Given the description of an element on the screen output the (x, y) to click on. 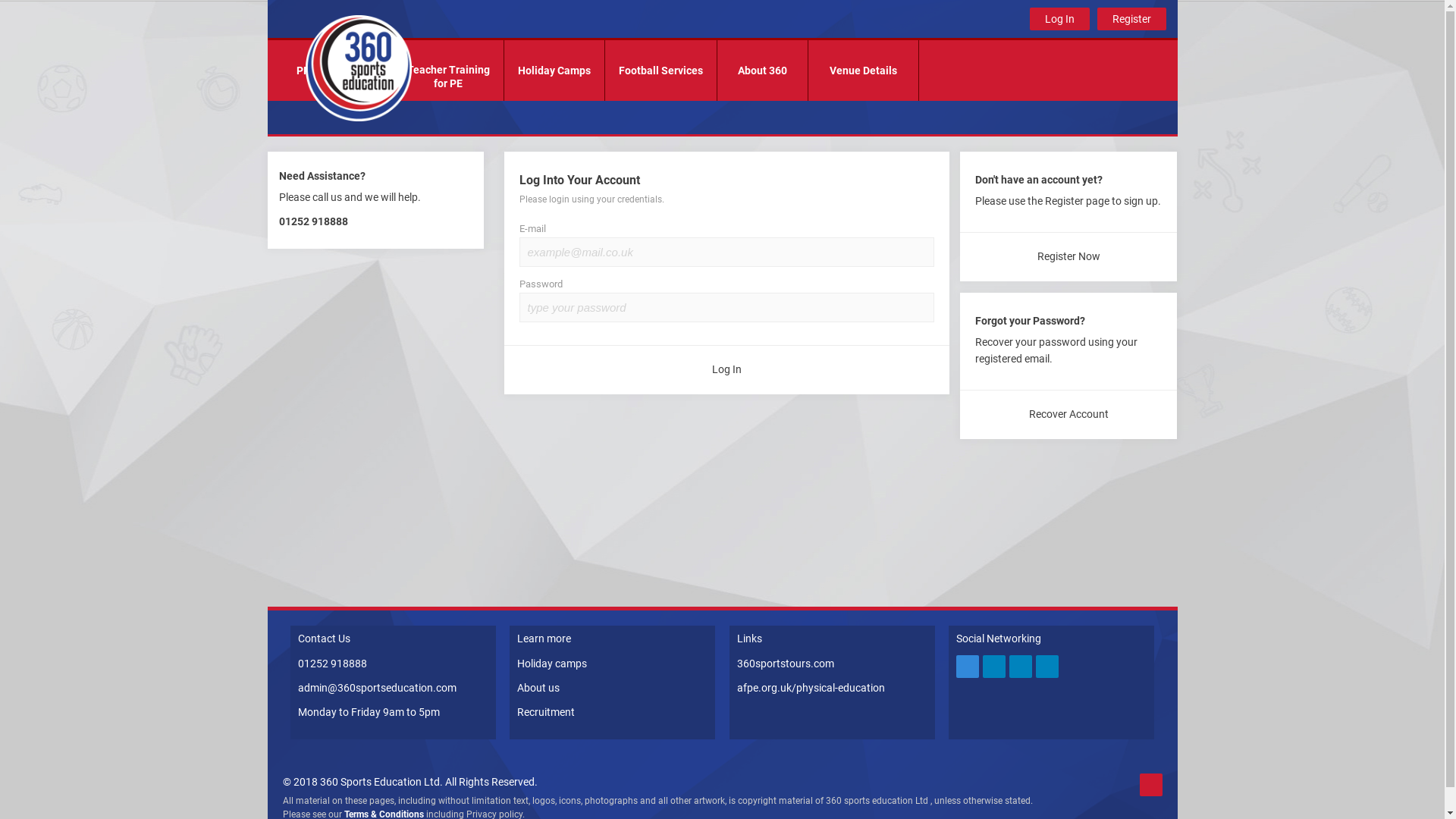
01252 918888 Element type: text (331, 663)
admin@360sportseducation.com Element type: text (376, 687)
Holiday Camps Element type: text (553, 70)
afpe.org.uk/physical-education Element type: text (810, 687)
Register Now Element type: text (1068, 256)
Recover Account Element type: text (1068, 414)
Venue Details Element type: text (863, 70)
Log In Element type: text (725, 369)
360 Sports Education Ltd. Element type: text (381, 781)
PPA PE Provision Element type: text (337, 70)
Register Element type: text (1130, 18)
Submit Element type: text (28, 13)
Log In Element type: text (1059, 18)
Holiday camps Element type: text (551, 663)
360sportstours.com Element type: text (785, 663)
About us Element type: text (538, 687)
Teacher Training
for PE Element type: text (447, 70)
Football Services Element type: text (660, 70)
About 360 Element type: text (762, 70)
Recruitment Element type: text (545, 712)
